Given the description of an element on the screen output the (x, y) to click on. 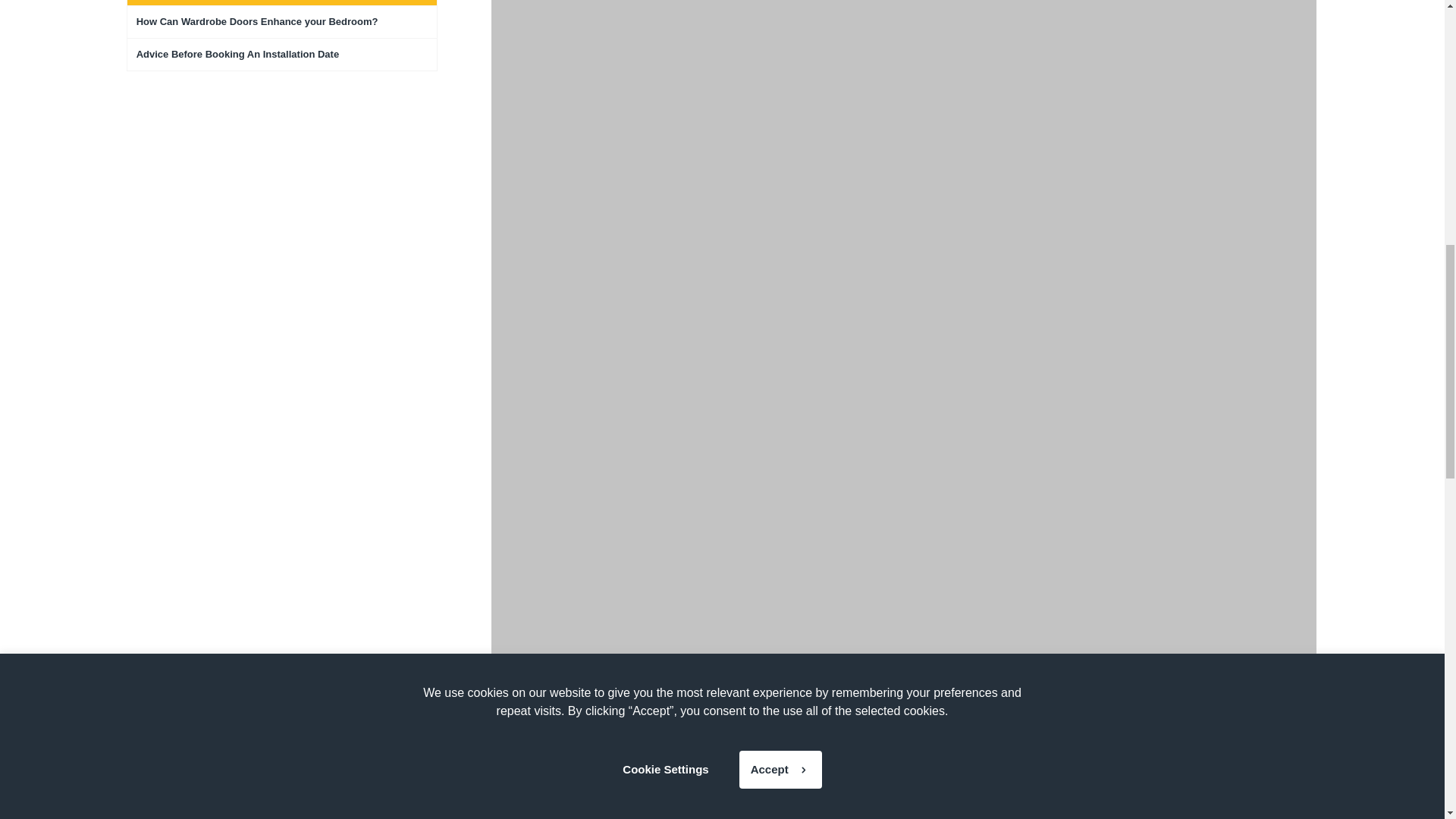
How Can Wardrobe Doors Enhance your Bedroom? (282, 21)
Advice Before Booking An Installation Date (282, 54)
